Given the description of an element on the screen output the (x, y) to click on. 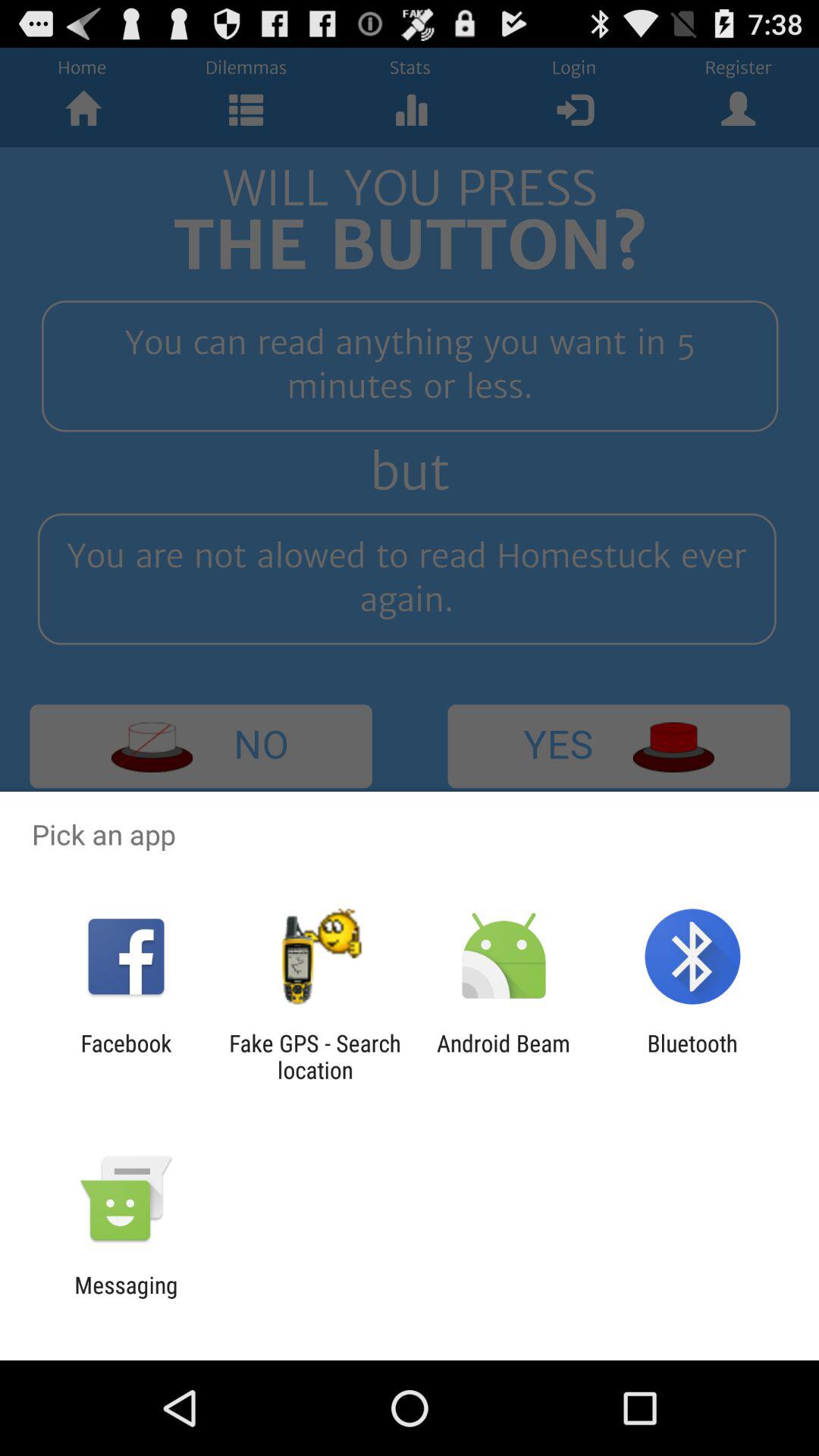
swipe to android beam app (503, 1056)
